Given the description of an element on the screen output the (x, y) to click on. 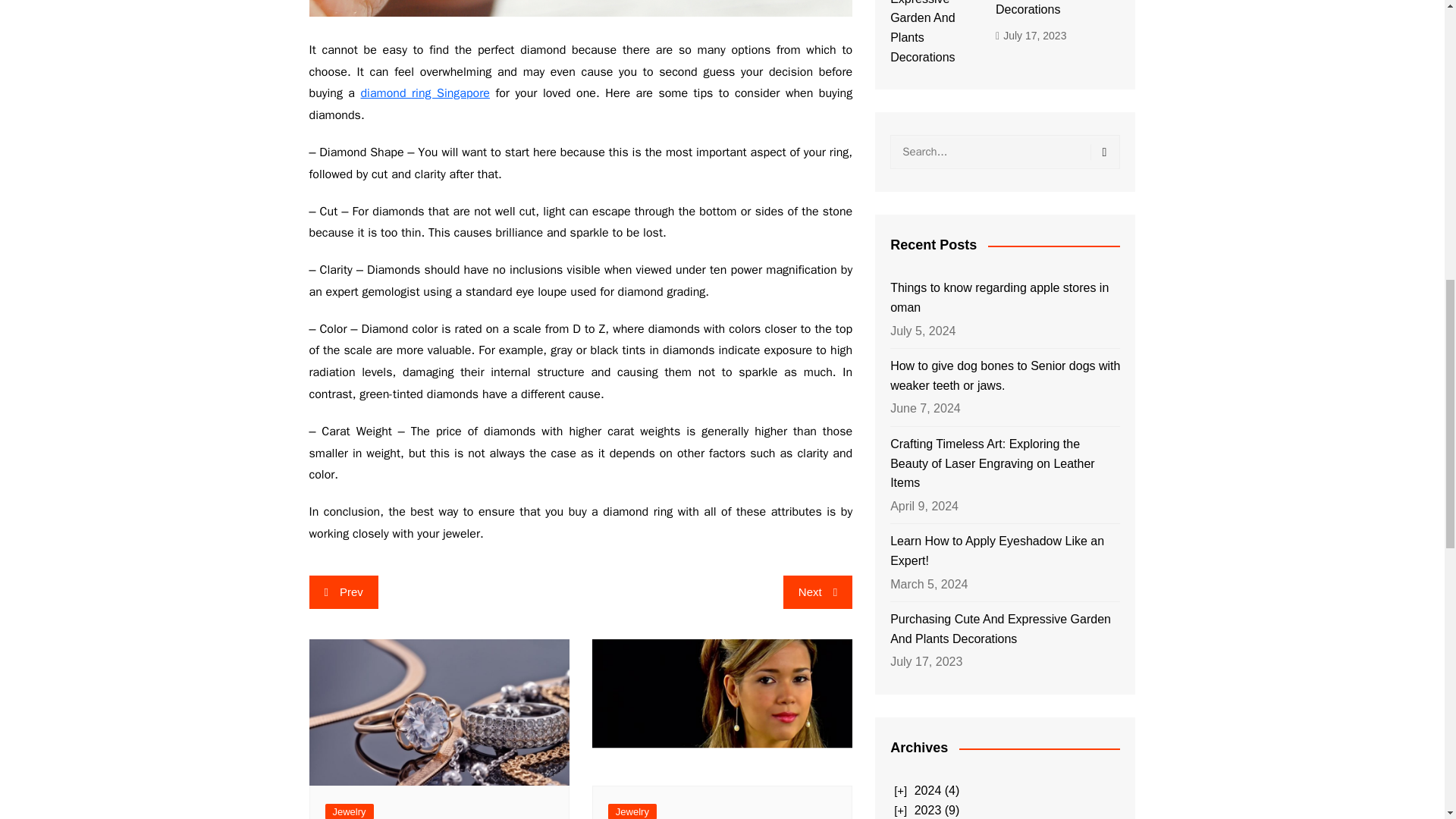
diamond ring Singapore (424, 92)
Jewelry (632, 811)
Prev (343, 592)
Jewelry (348, 811)
Next (817, 592)
